Given the description of an element on the screen output the (x, y) to click on. 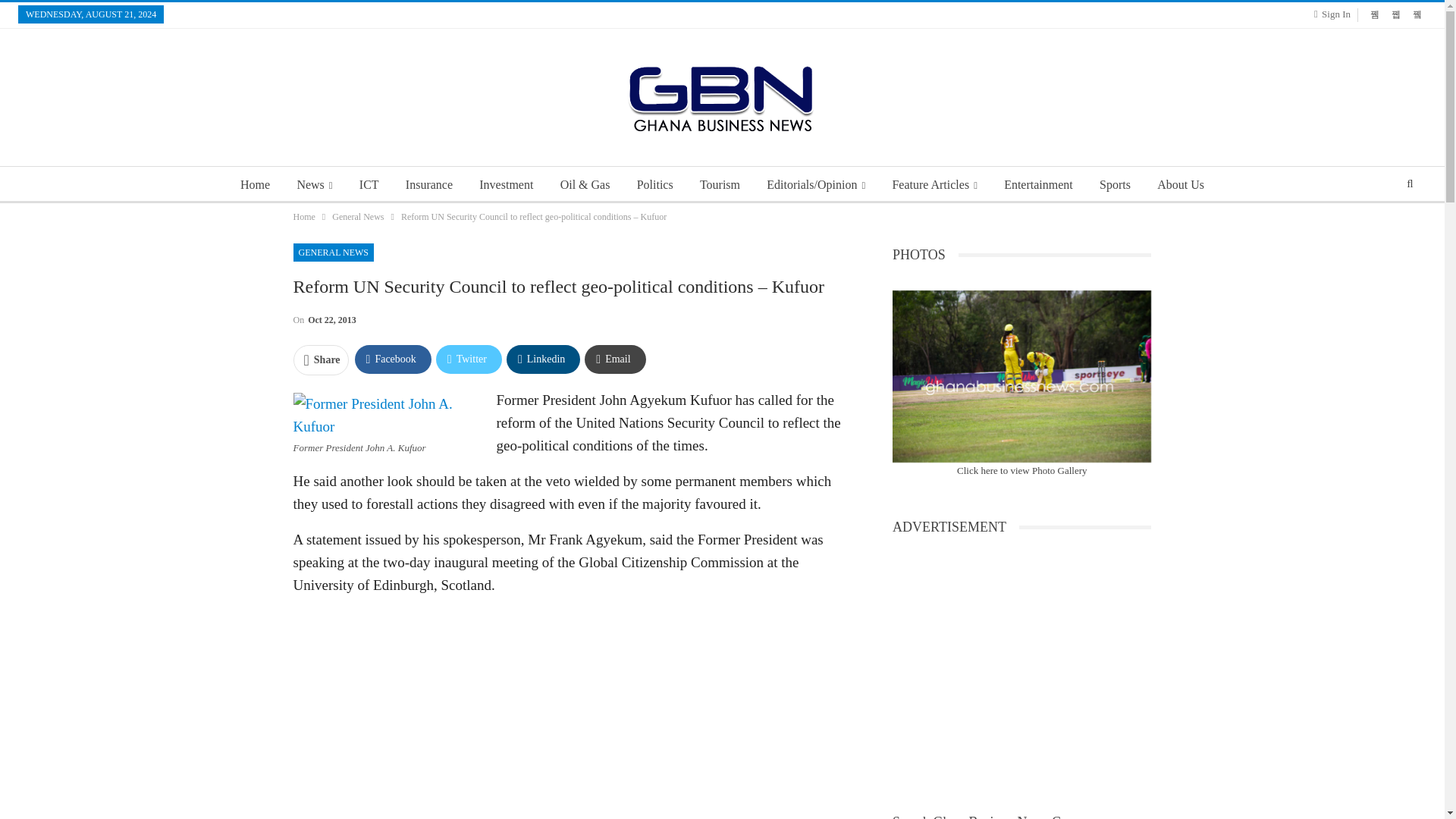
ICT (369, 185)
Feature Articles (934, 185)
Home (255, 185)
13th-African-games-162 (1021, 376)
Insurance (428, 185)
Email (615, 358)
Home (303, 216)
Twitter (468, 358)
Linkedin (542, 358)
Sports (1115, 185)
